Given the description of an element on the screen output the (x, y) to click on. 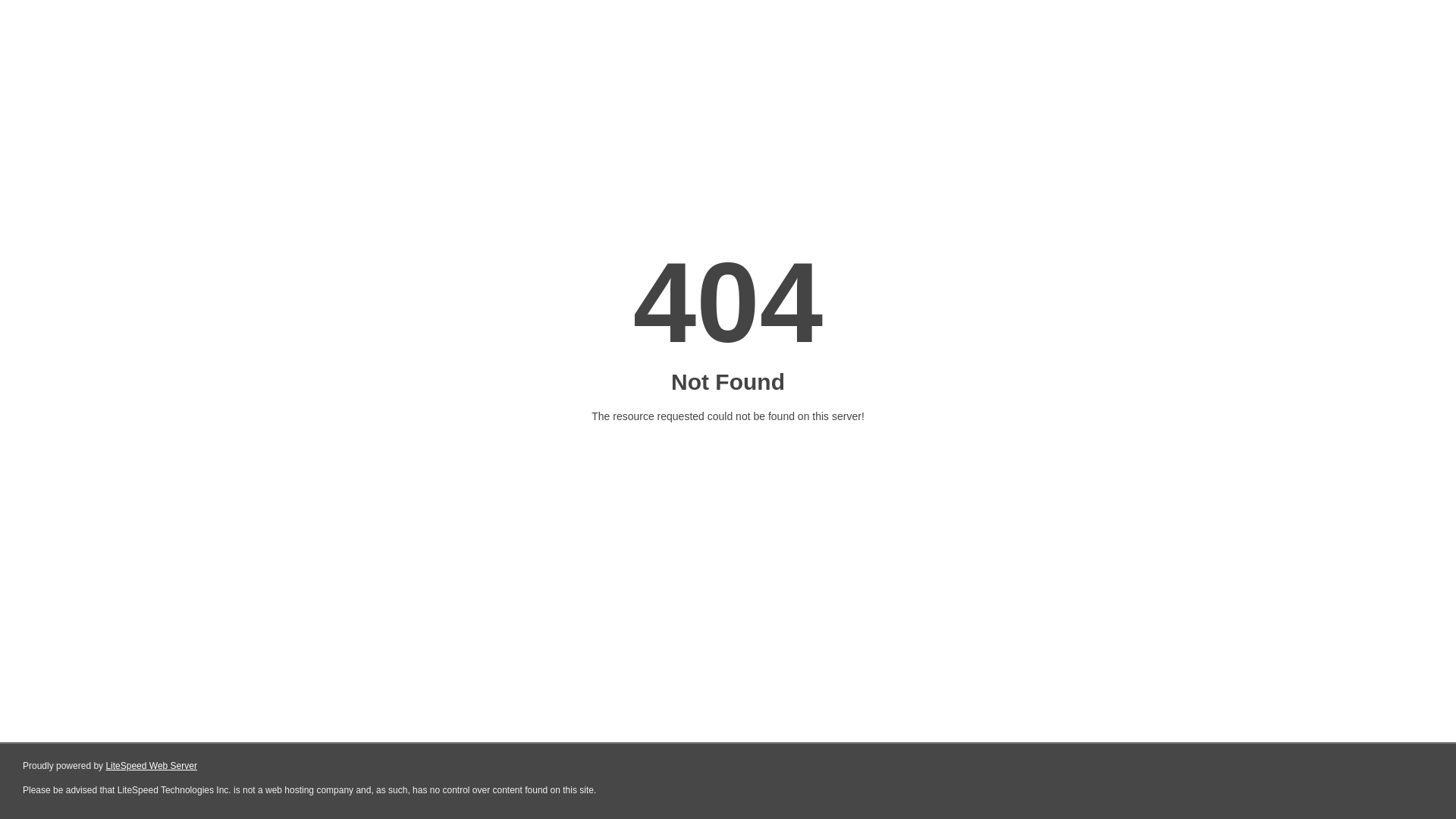
LiteSpeed Web Server Element type: text (151, 765)
